Given the description of an element on the screen output the (x, y) to click on. 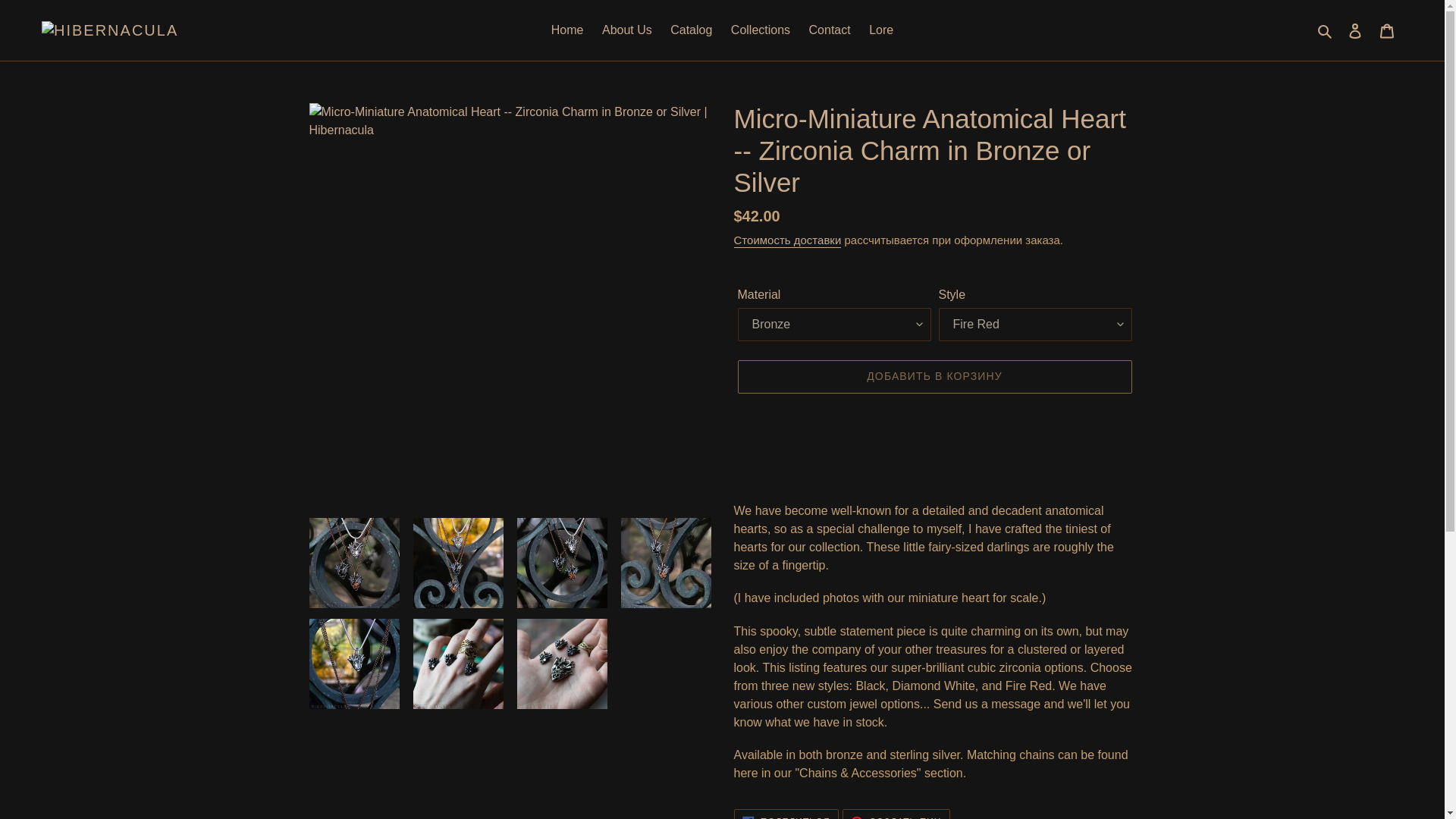
Collections (760, 29)
Home (567, 29)
Lore (881, 29)
Catalog (690, 29)
About Us (626, 29)
Contact (830, 29)
